Given the description of an element on the screen output the (x, y) to click on. 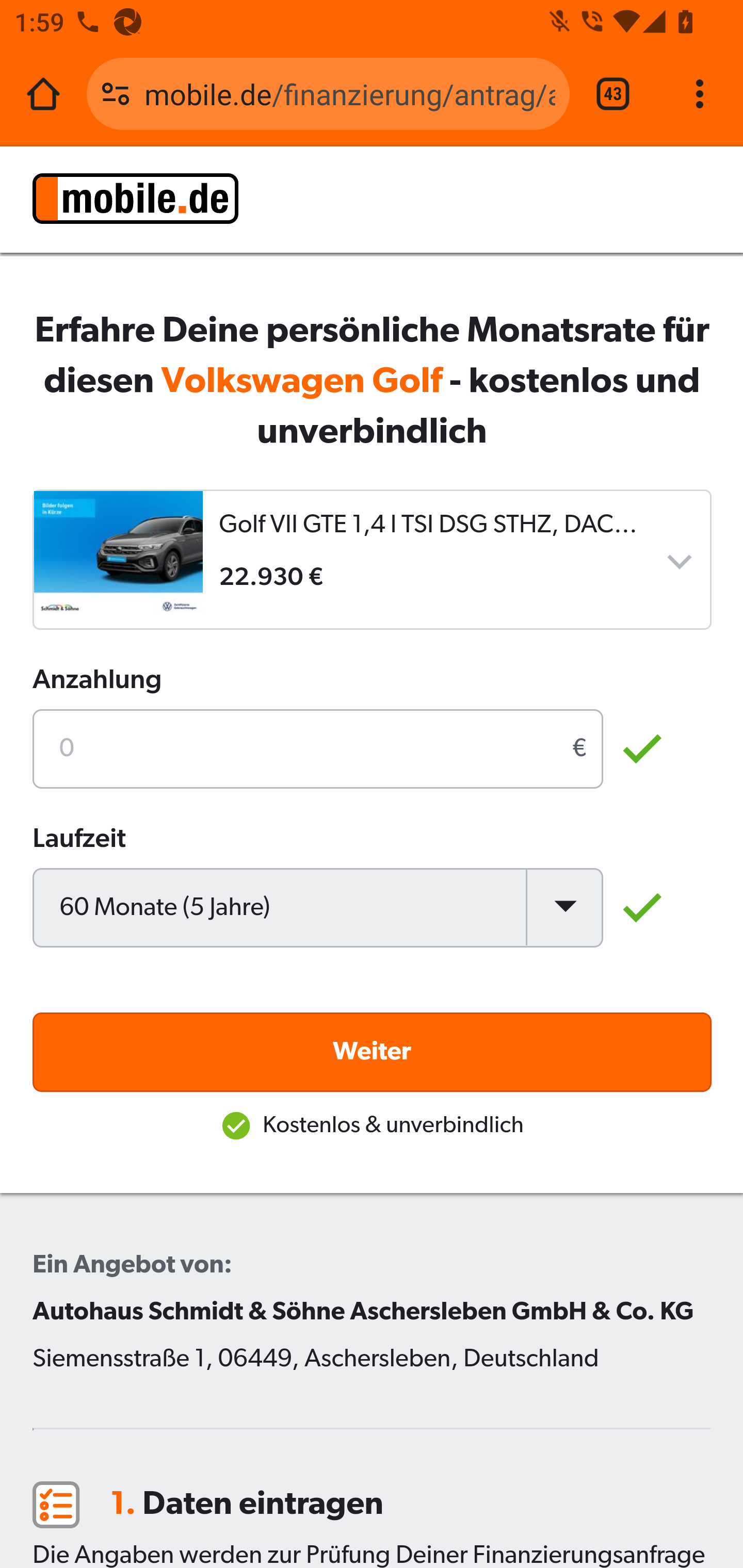
Open the home page (43, 93)
Connection is secure (115, 93)
Switch or close tabs (612, 93)
Customize and control Google Chrome (699, 93)
60 Monate (5 Jahre) (317, 907)
Weiter (372, 1051)
